Given the description of an element on the screen output the (x, y) to click on. 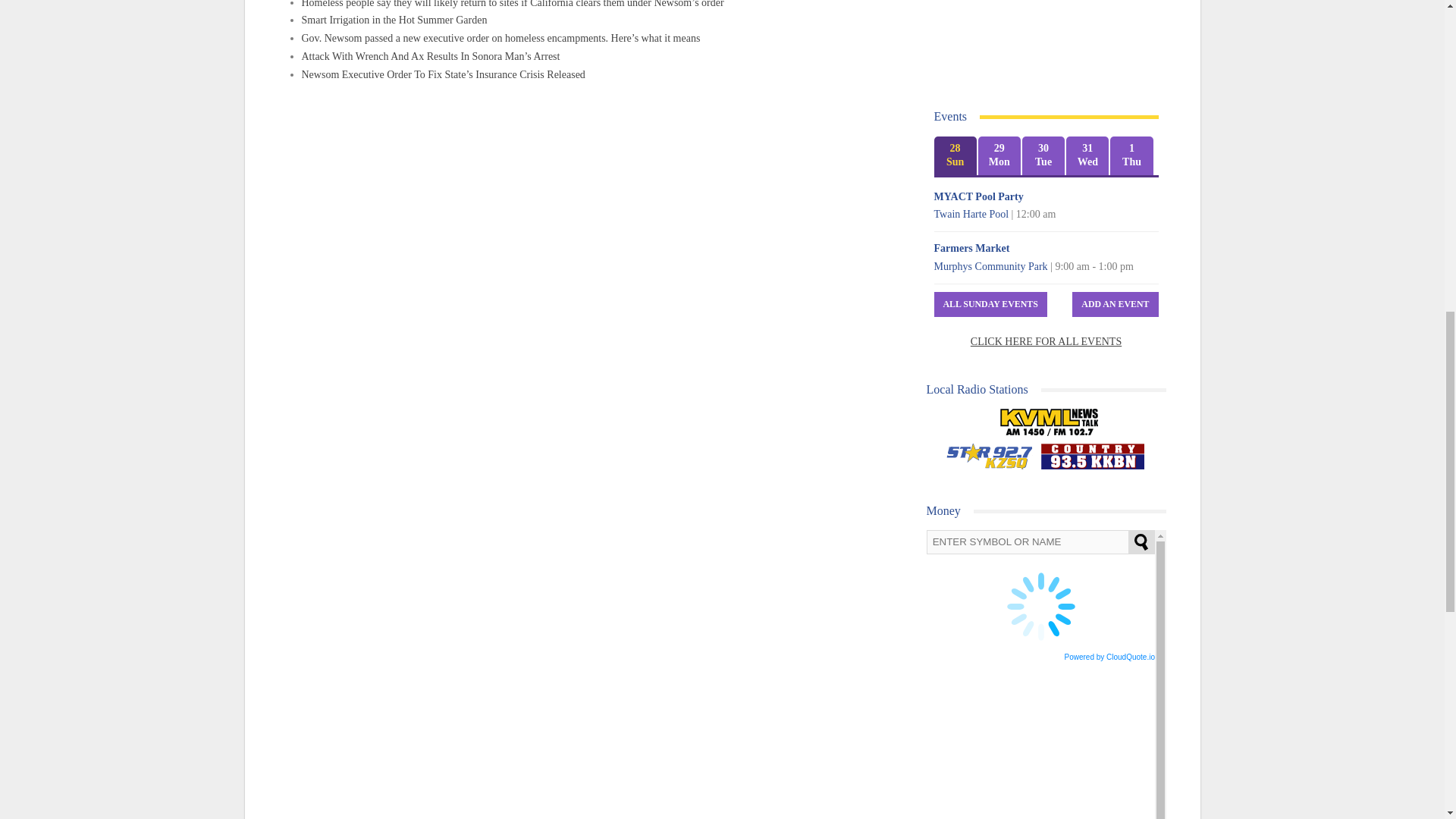
Add An Event (1114, 303)
All Sunday Events (990, 303)
